Given the description of an element on the screen output the (x, y) to click on. 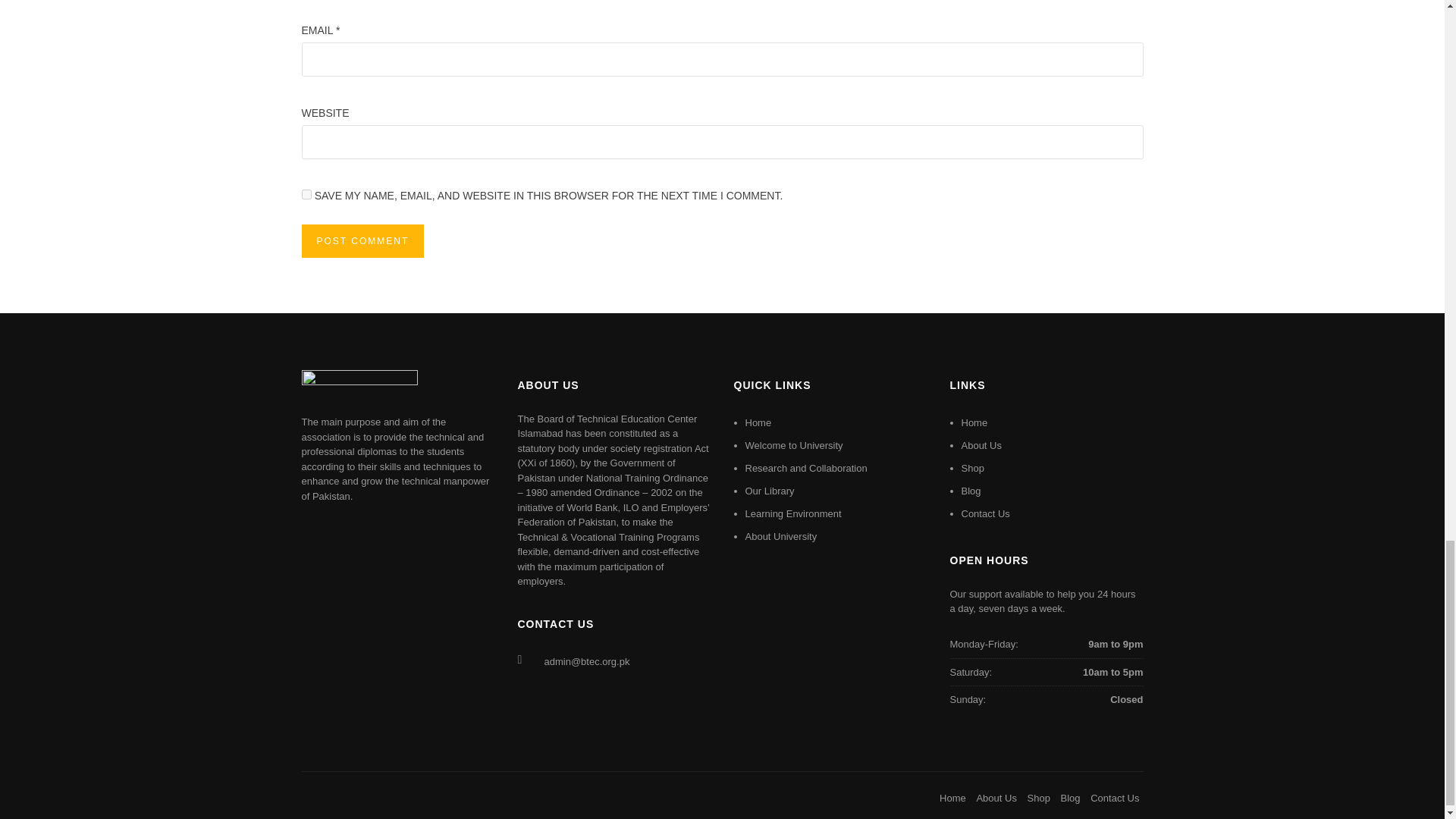
Welcome to University (793, 445)
About Us (995, 797)
Shop (1038, 797)
Post Comment (363, 240)
Home (974, 422)
Learning Environment (792, 513)
Blog (970, 490)
Home (952, 797)
About Us (980, 445)
yes (306, 194)
Research and Collaboration (805, 468)
Contact Us (985, 513)
Our Library (768, 490)
About University (780, 536)
Shop (972, 468)
